Given the description of an element on the screen output the (x, y) to click on. 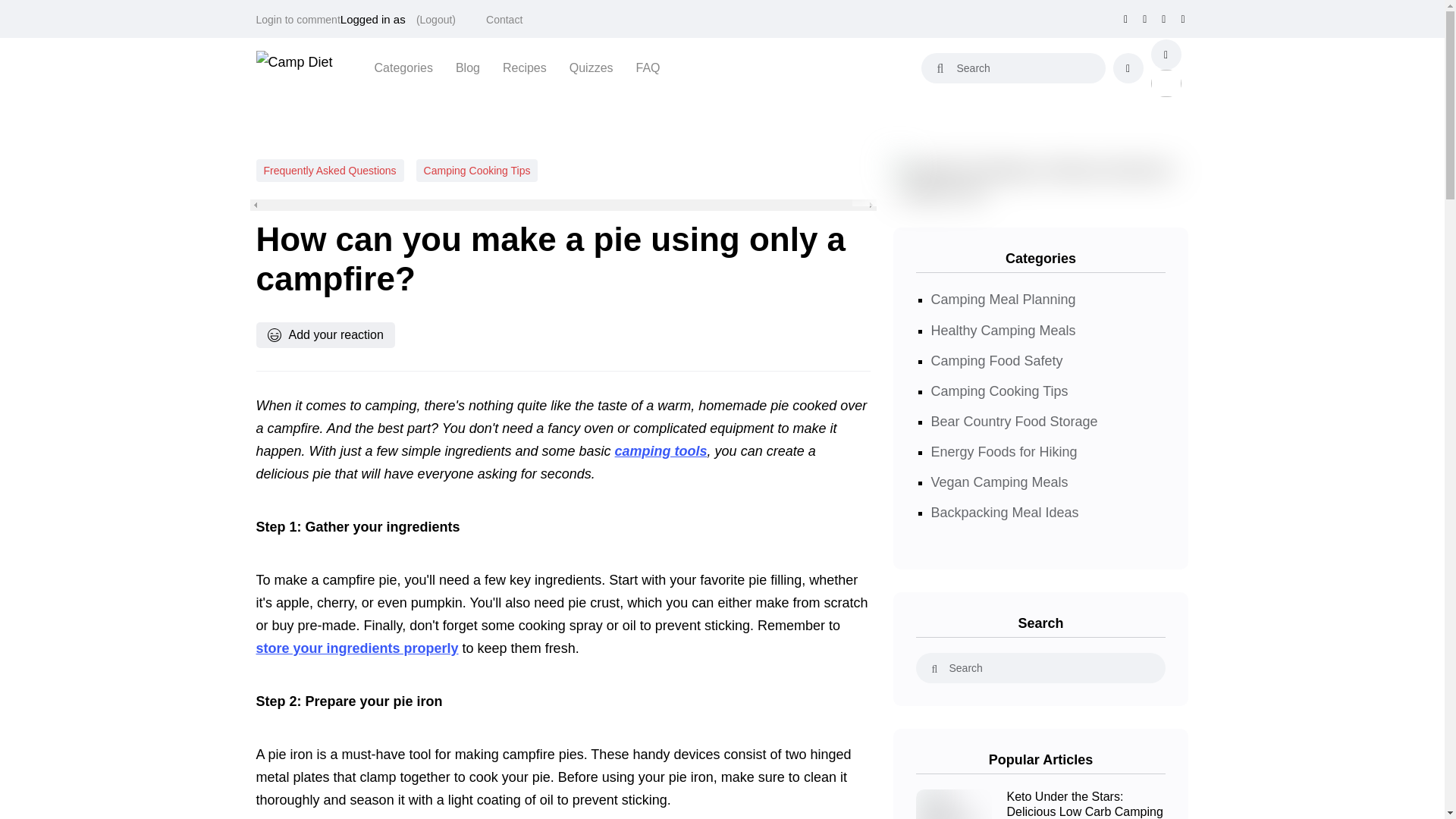
Login to comment (298, 19)
Categories (403, 67)
Contact (504, 19)
